Given the description of an element on the screen output the (x, y) to click on. 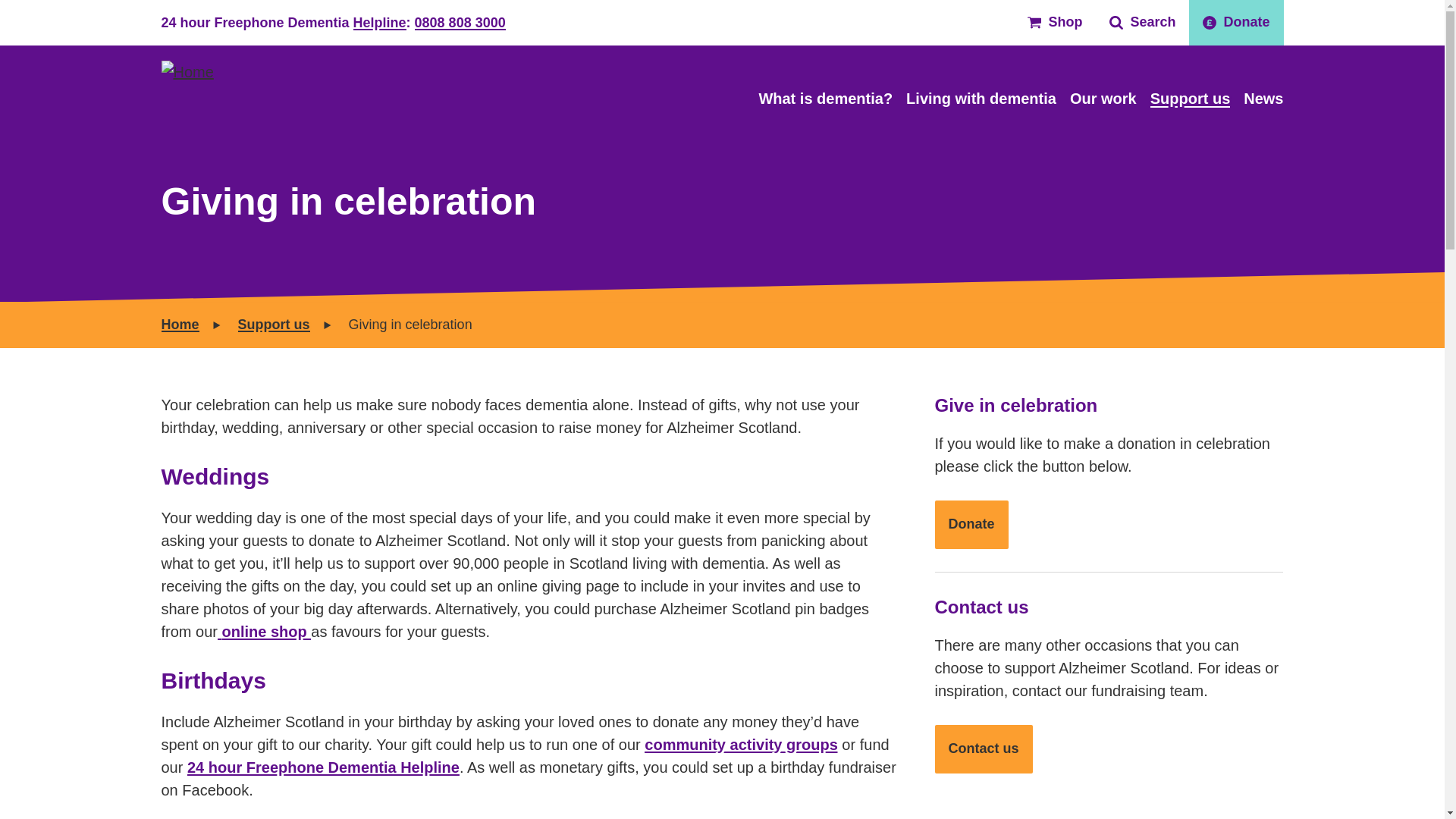
online shop  (266, 631)
24 hour Freephone Dementia Helpline (323, 767)
Search (1142, 22)
community activity groups (741, 744)
Support us (274, 324)
News (1262, 98)
Living with dementia (981, 98)
Helpline (379, 22)
Contact us (983, 748)
